Given the description of an element on the screen output the (x, y) to click on. 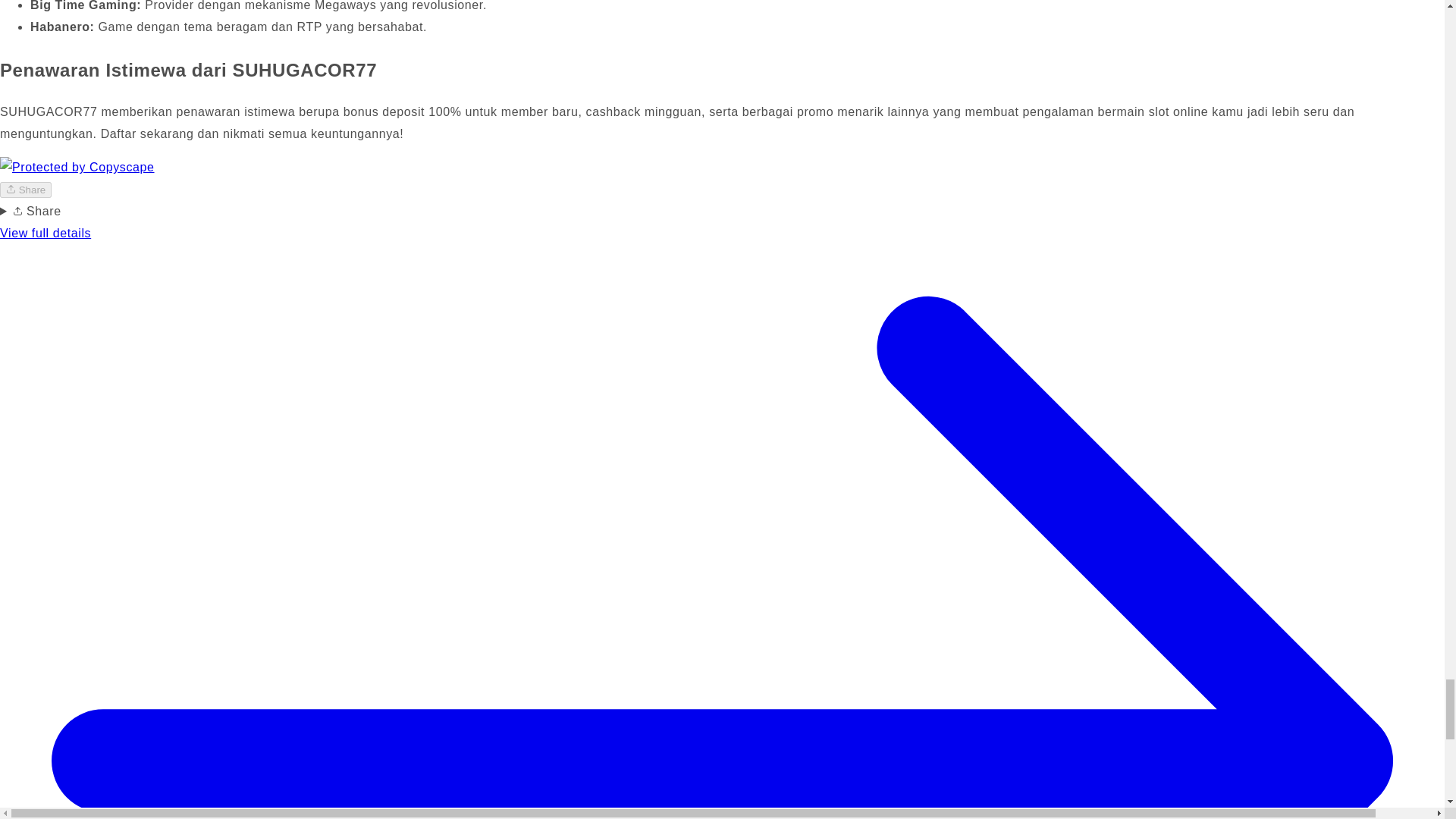
Share (25, 189)
Protected by Copyscape - Do not copy content from this page. (77, 168)
